Given the description of an element on the screen output the (x, y) to click on. 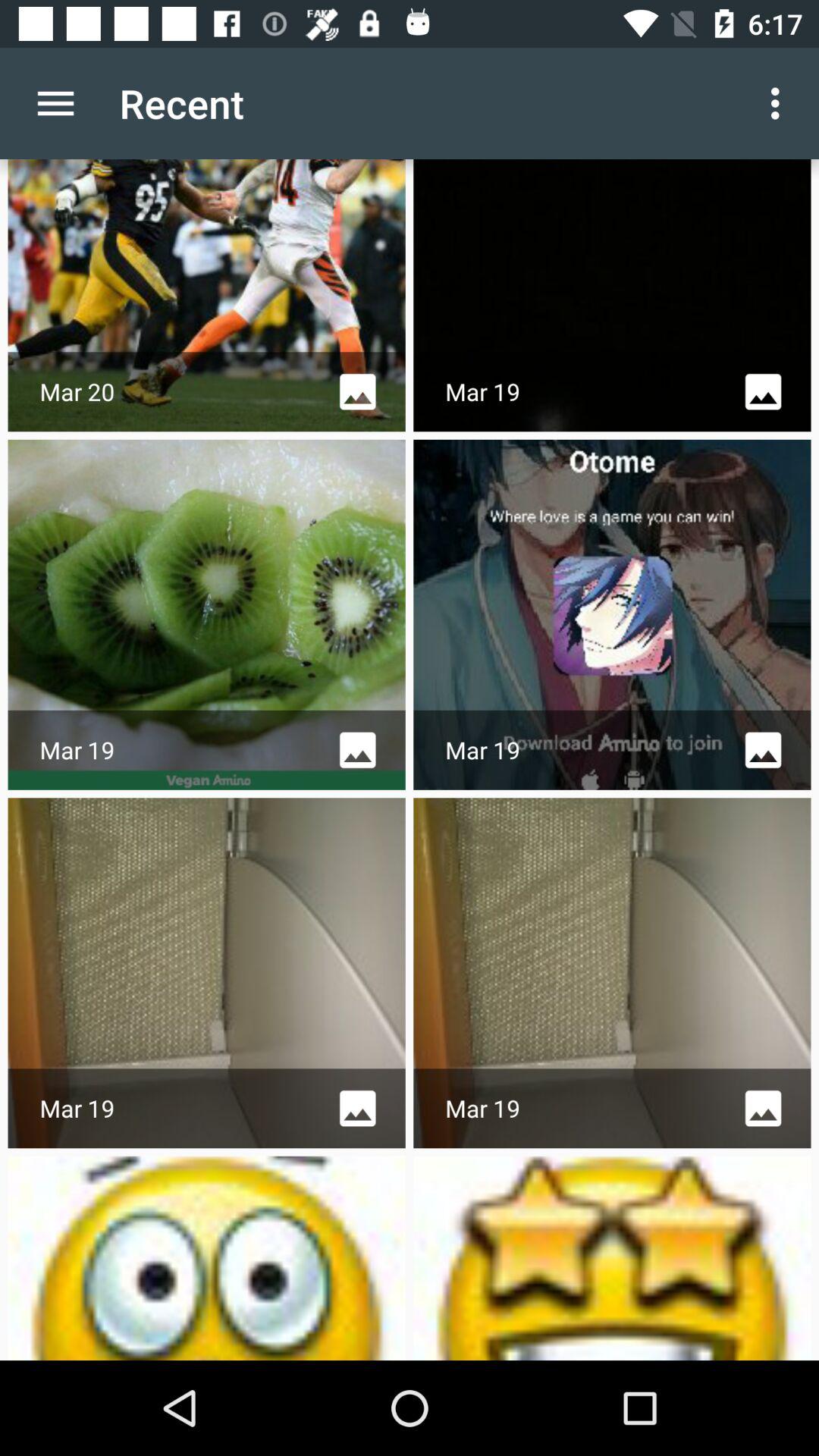
turn off the item next to recent app (55, 103)
